Given the description of an element on the screen output the (x, y) to click on. 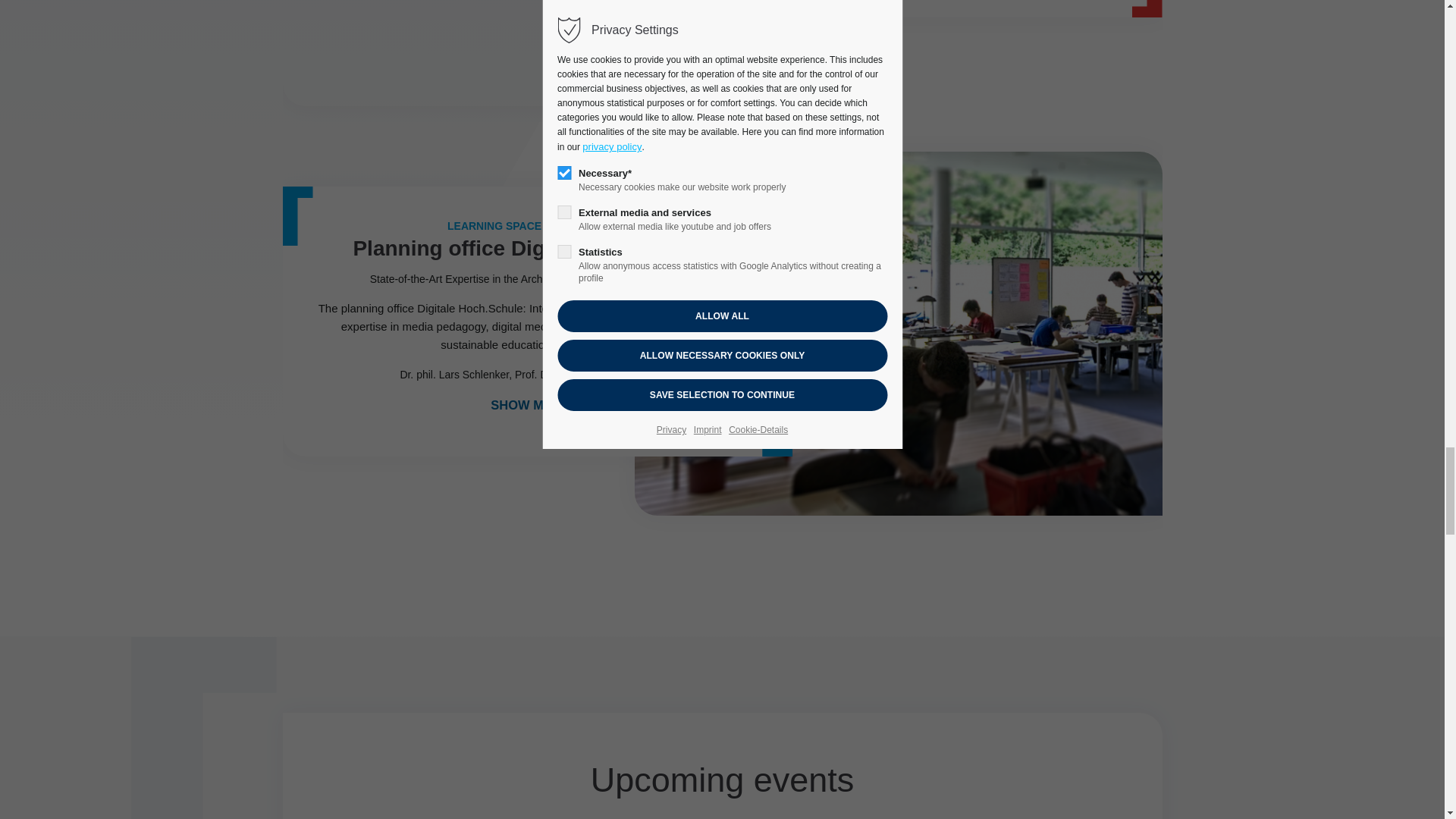
SHOW MORE (536, 404)
